Given the description of an element on the screen output the (x, y) to click on. 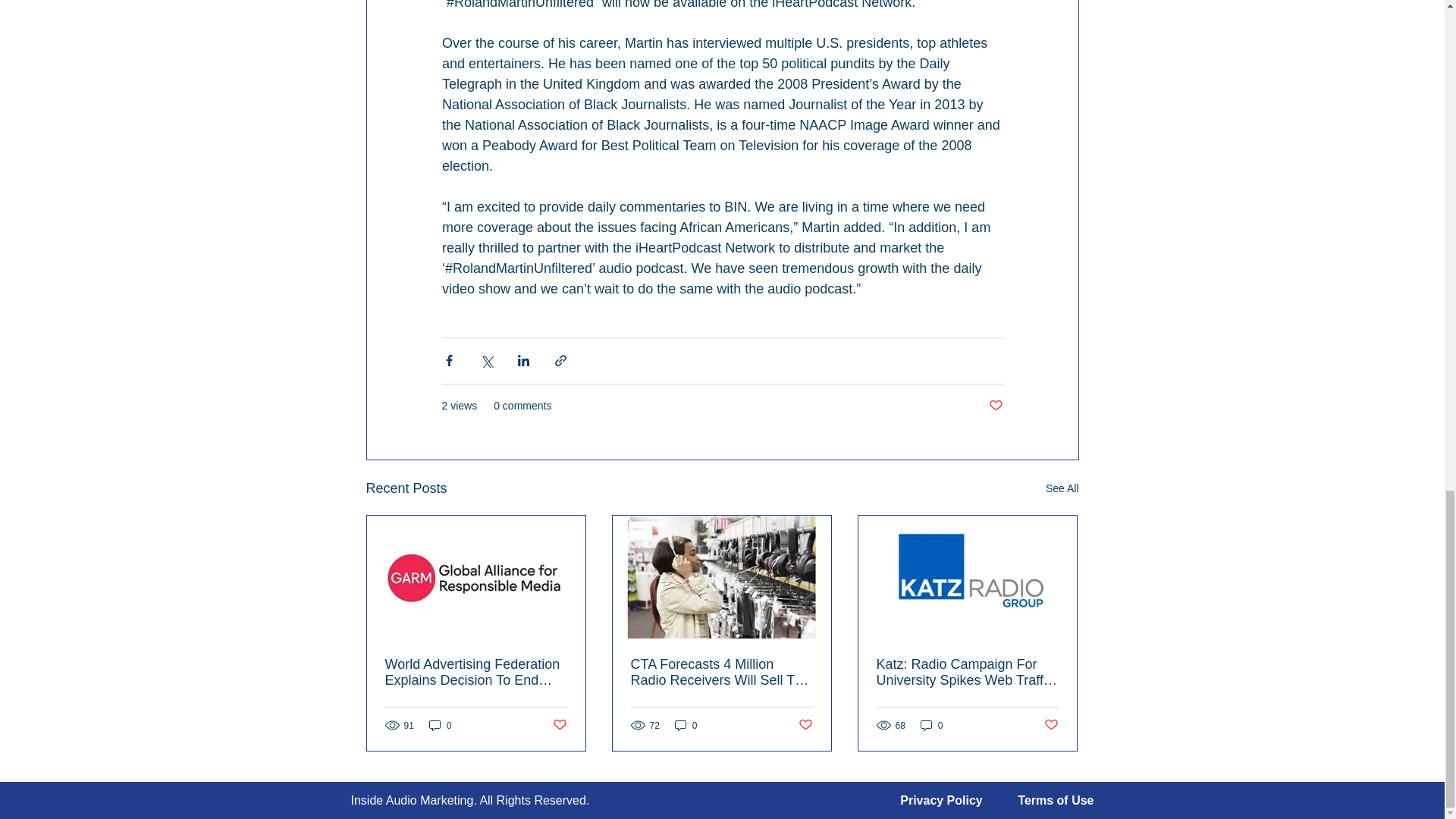
0 (440, 725)
Privacy Policy (940, 799)
CTA Forecasts 4 Million Radio Receivers Will Sell This Year. (721, 672)
Post not marked as liked (804, 725)
Post not marked as liked (1050, 725)
See All (1061, 488)
Inside Audio Marketing. All Rights Reserved. (469, 799)
Post not marked as liked (995, 406)
0 (931, 725)
